Given the description of an element on the screen output the (x, y) to click on. 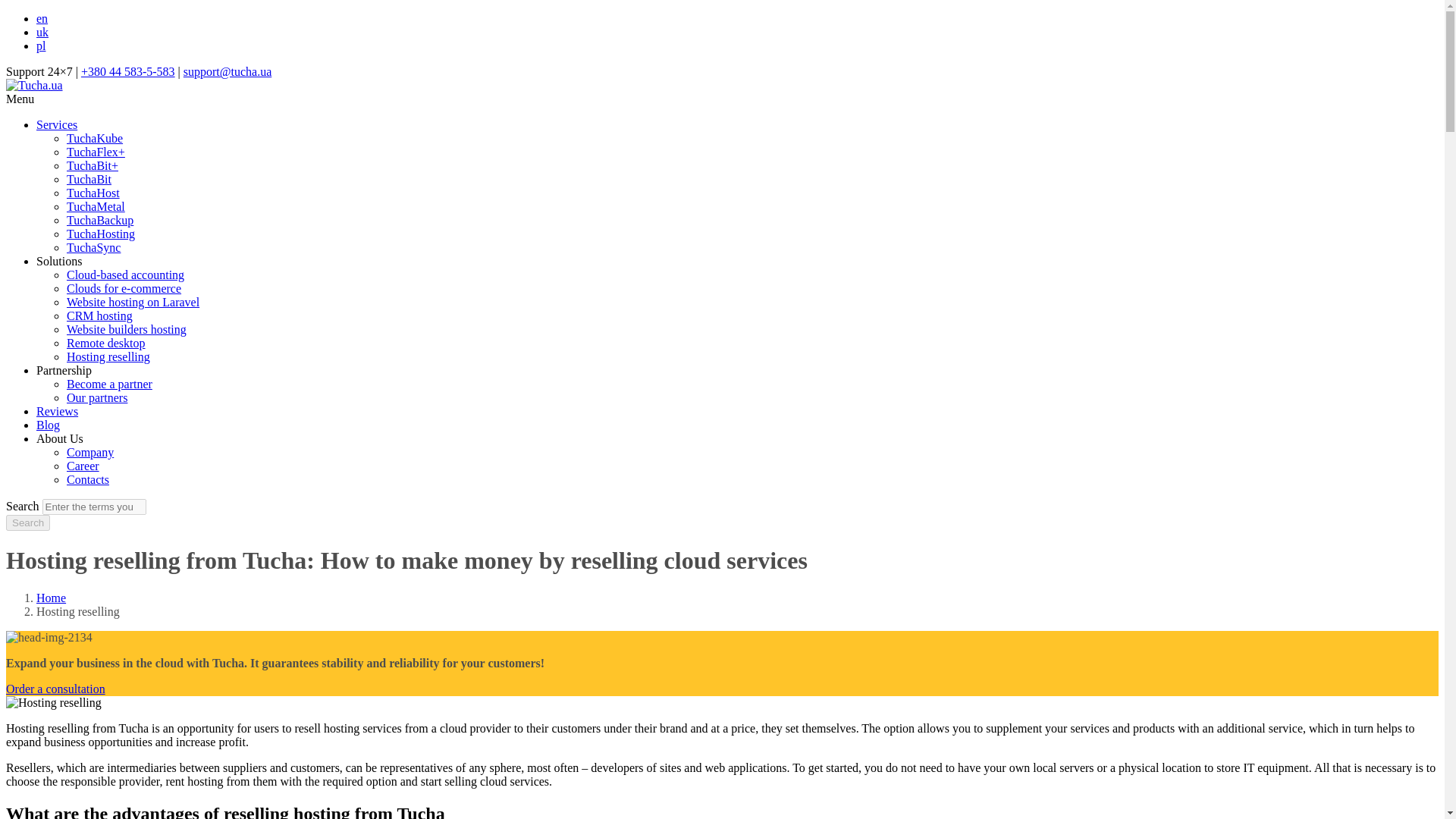
Services (56, 124)
Blog (47, 424)
Remote desktop (105, 342)
Tucha.ua (33, 85)
Storage, synchronization  and filesharing at high speed (93, 246)
Enter the terms you wish to search for. (94, 506)
Cloud-based accounting (125, 274)
Become a partner (109, 383)
